Given the description of an element on the screen output the (x, y) to click on. 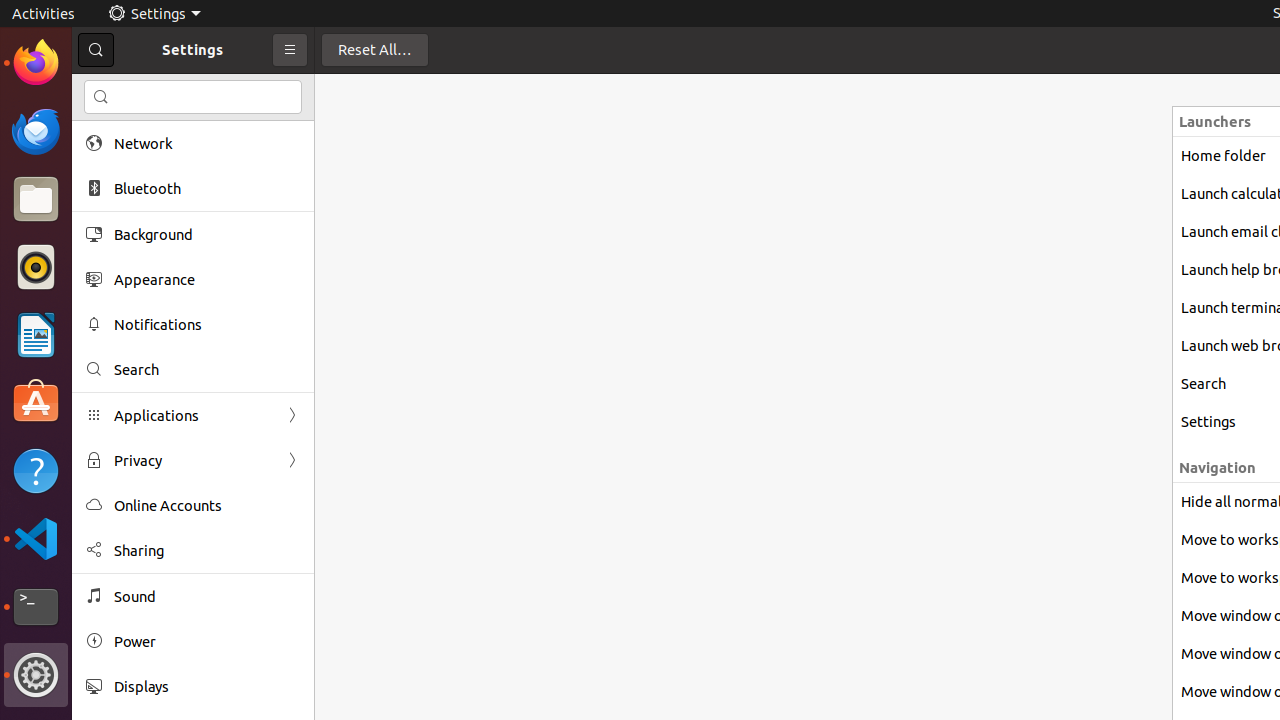
Applications Element type: label (193, 415)
Notifications Element type: label (207, 324)
Privacy Element type: label (193, 460)
Sharing Element type: label (207, 550)
